Given the description of an element on the screen output the (x, y) to click on. 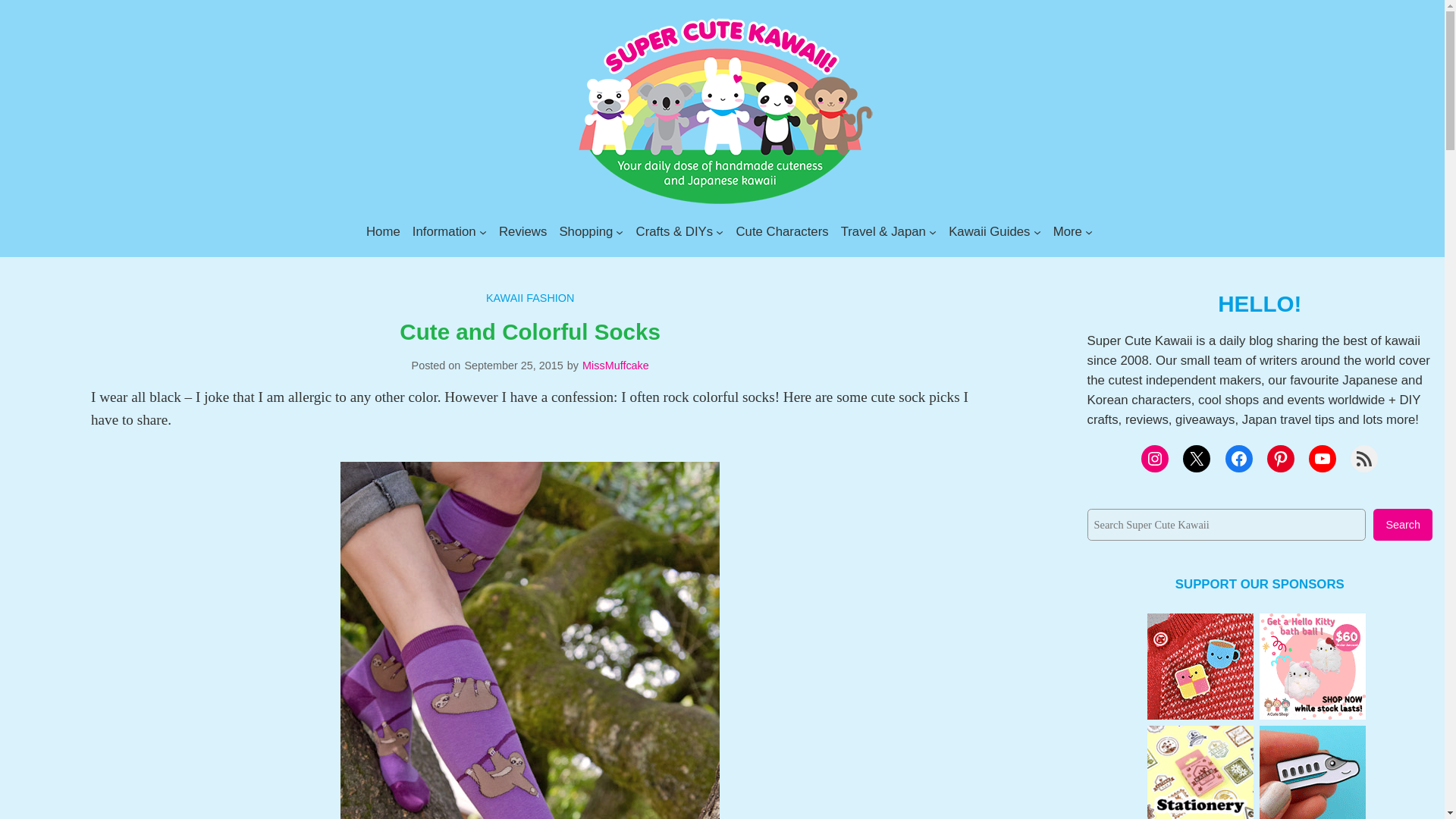
Reviews (523, 231)
Shopping (585, 231)
Information (444, 231)
Home (383, 231)
